Given the description of an element on the screen output the (x, y) to click on. 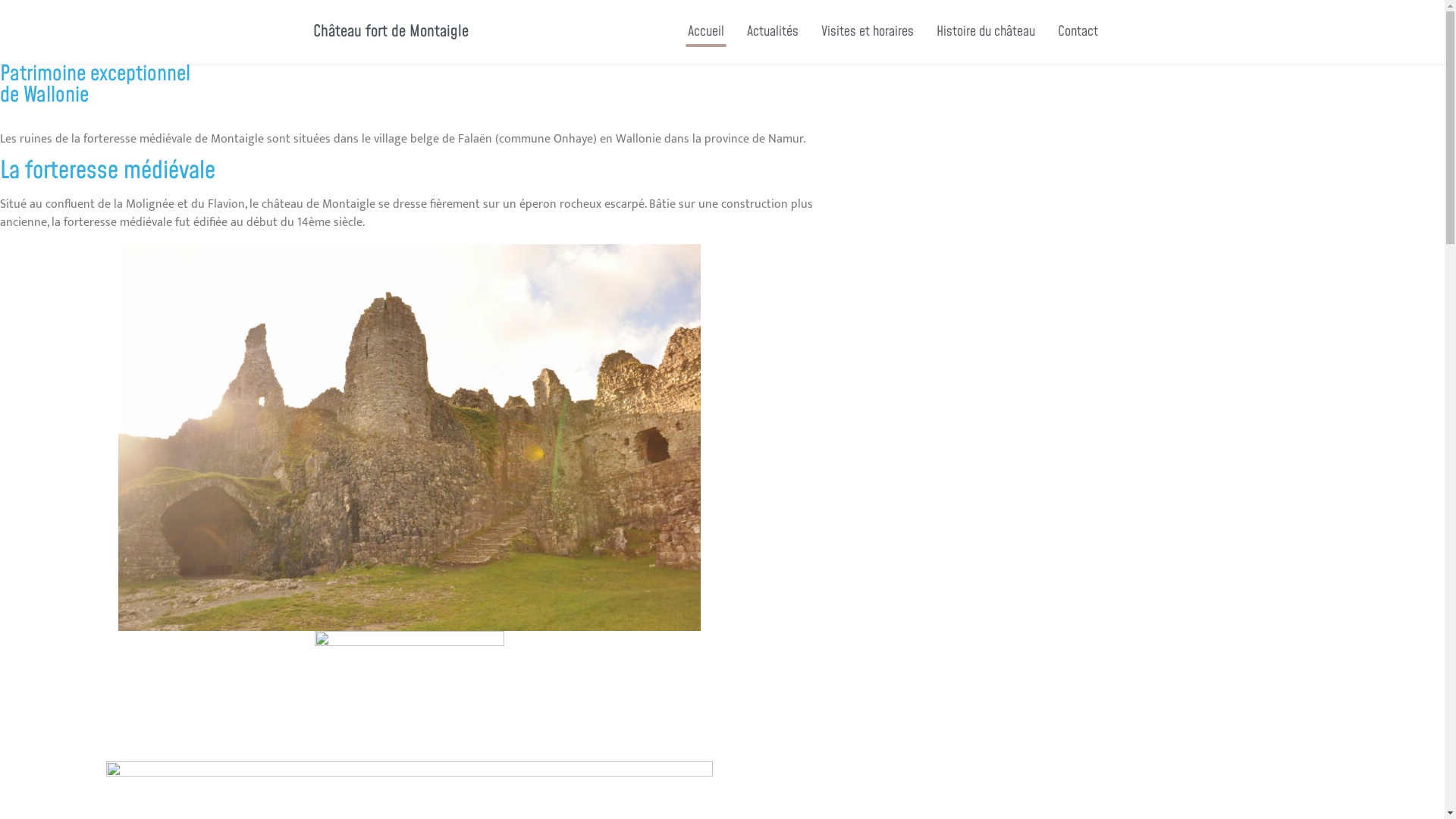
Visites et horaires Element type: text (867, 31)
Accueil Element type: text (722, 87)
Accueil Element type: text (705, 31)
Facebook Element type: text (1128, 30)
Contact Element type: text (1077, 31)
